Given the description of an element on the screen output the (x, y) to click on. 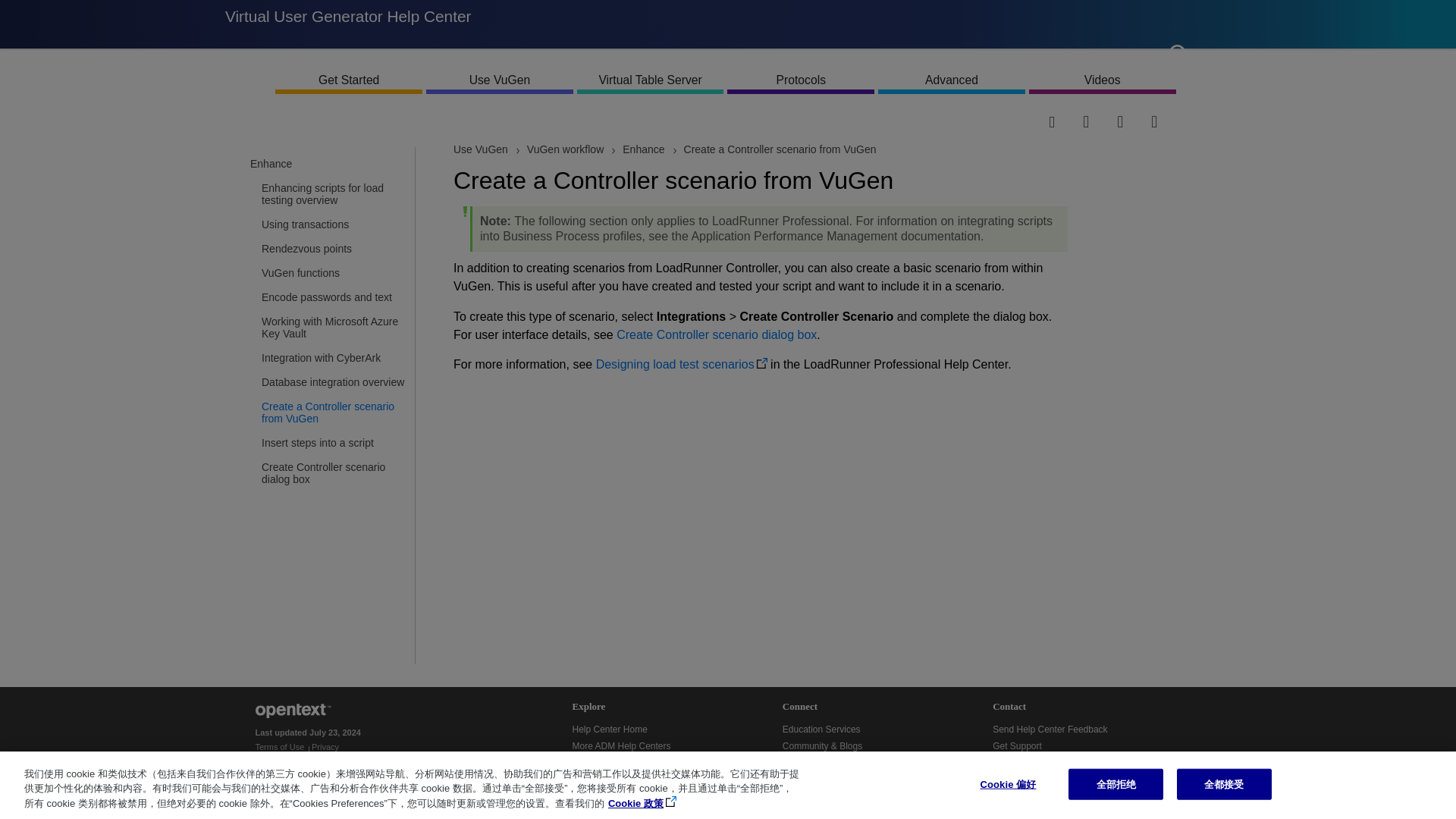
Version: 24.1-24.3 (275, 83)
Virtual User Generator Help Center (347, 24)
Print the current topic (1168, 121)
Share page (1065, 121)
Expand all dropdowns (1099, 121)
Remove all search highlights (1133, 121)
